Given the description of an element on the screen output the (x, y) to click on. 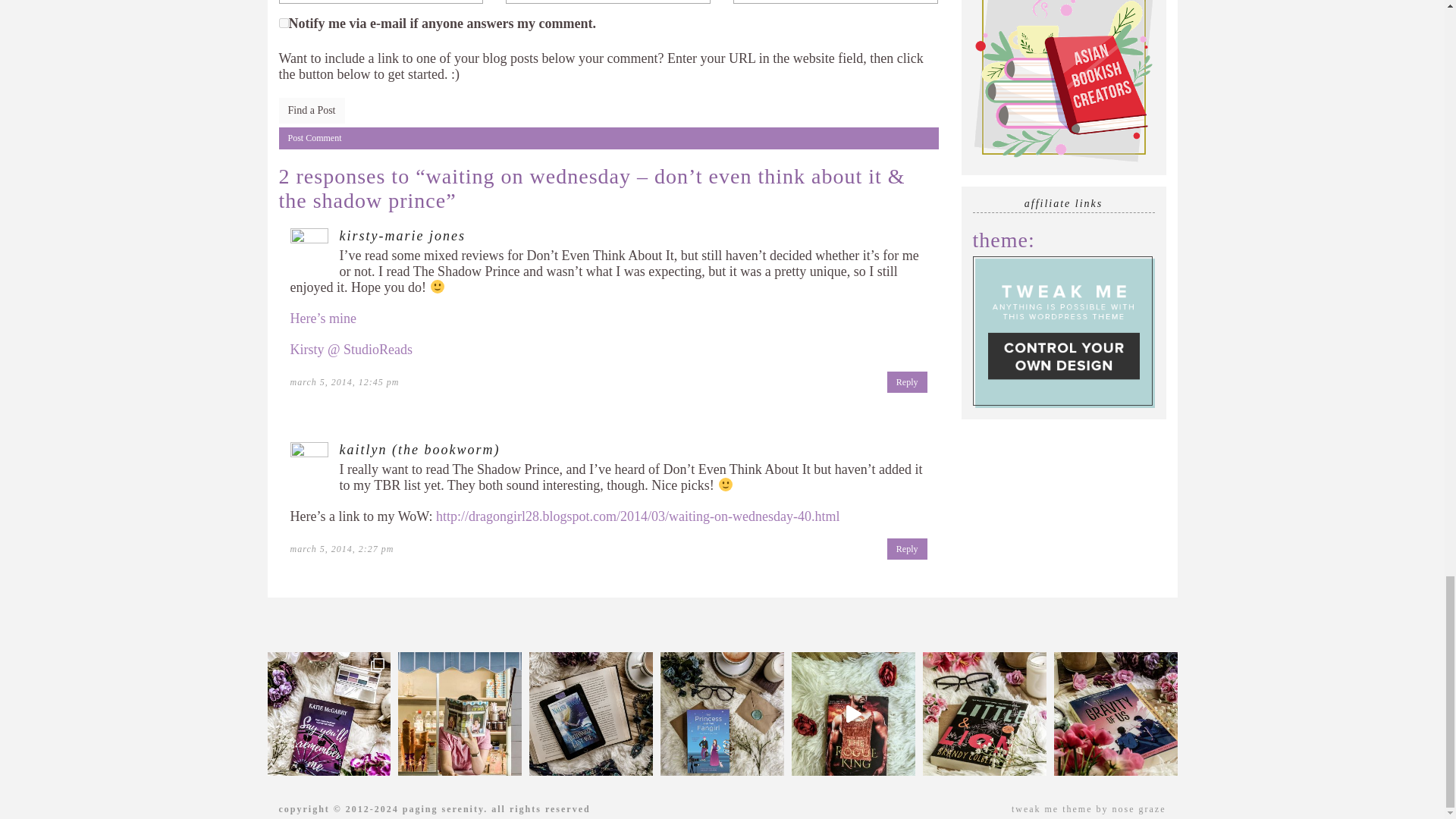
on (283, 22)
Post Comment (609, 138)
Tweak Me - Anything is possible with this WordPress theme (1063, 330)
